Given the description of an element on the screen output the (x, y) to click on. 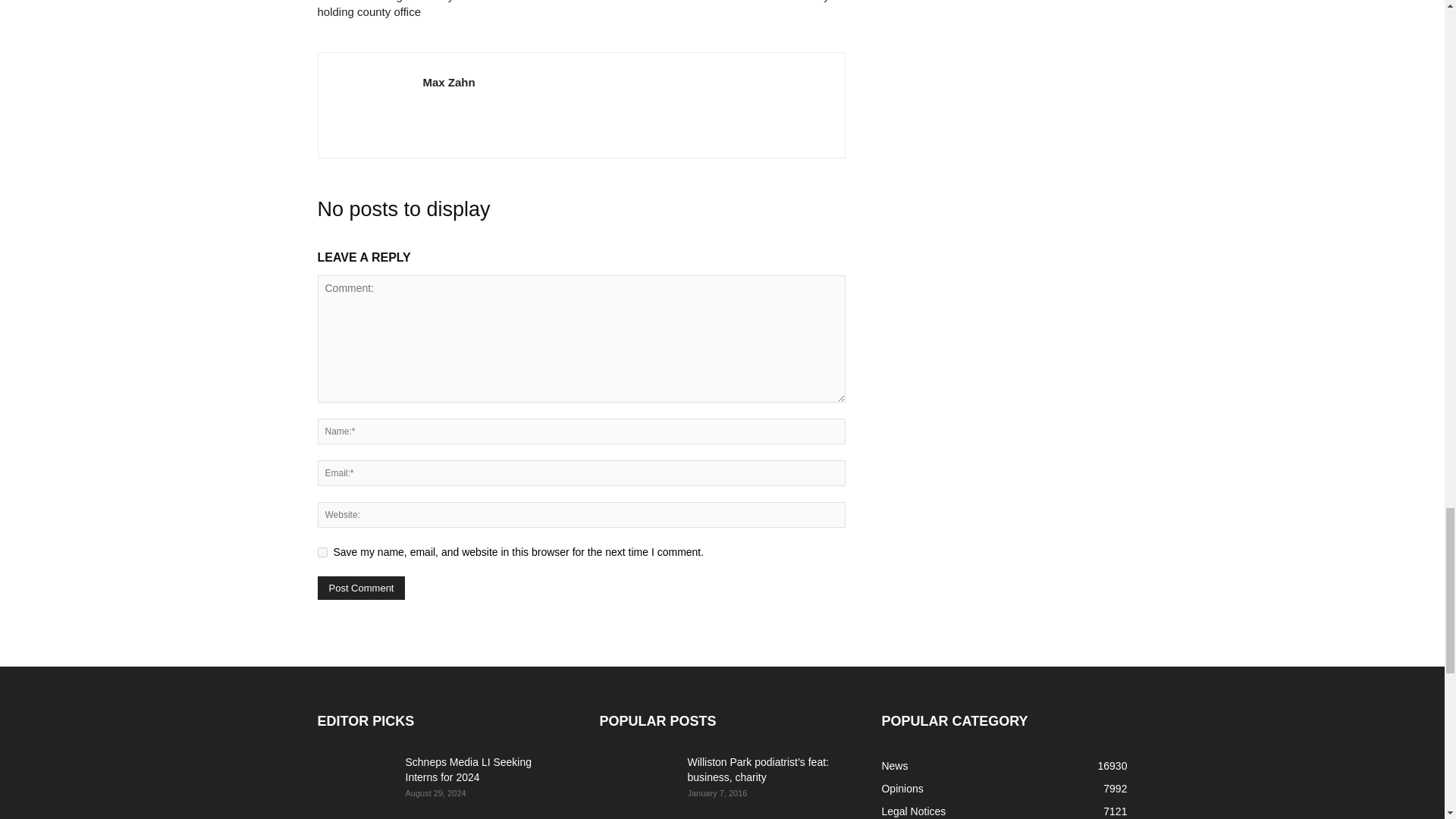
Schneps Media LI Seeking Interns for 2024 (355, 780)
Post Comment (360, 587)
Schneps Media LI Seeking Interns for 2024 (467, 768)
yes (321, 552)
